Given the description of an element on the screen output the (x, y) to click on. 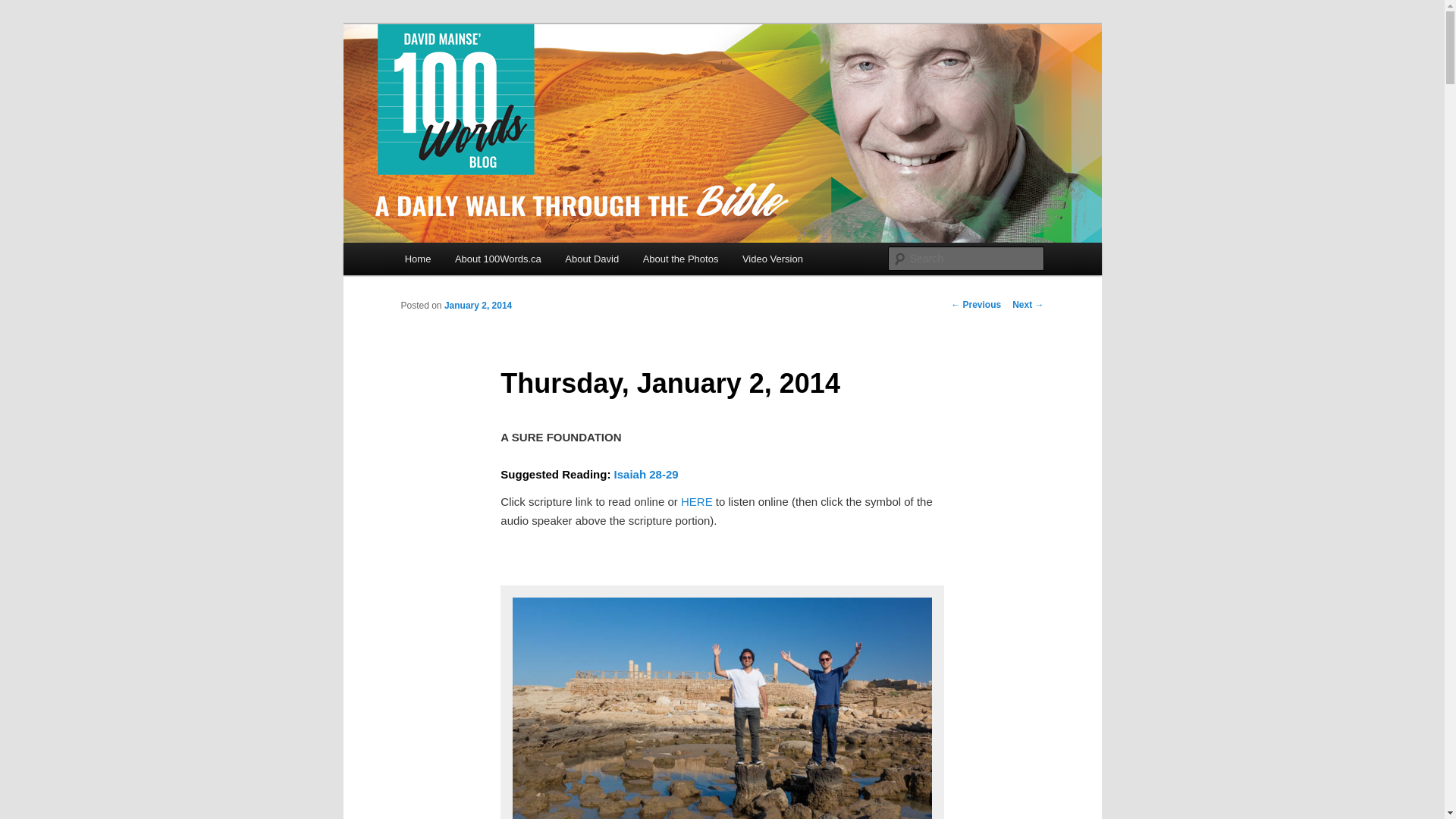
Home (417, 258)
About 100Words.ca (497, 258)
HERE (697, 501)
About the Photos (680, 258)
January 2, 2014 (721, 705)
Search (24, 8)
About David (591, 258)
January 2, 2014 (478, 305)
Isaiah 28-29 (646, 473)
Video Version (772, 258)
100Words.ca: A Daily Walk Through The Bible (647, 78)
6:00 am (478, 305)
